Given the description of an element on the screen output the (x, y) to click on. 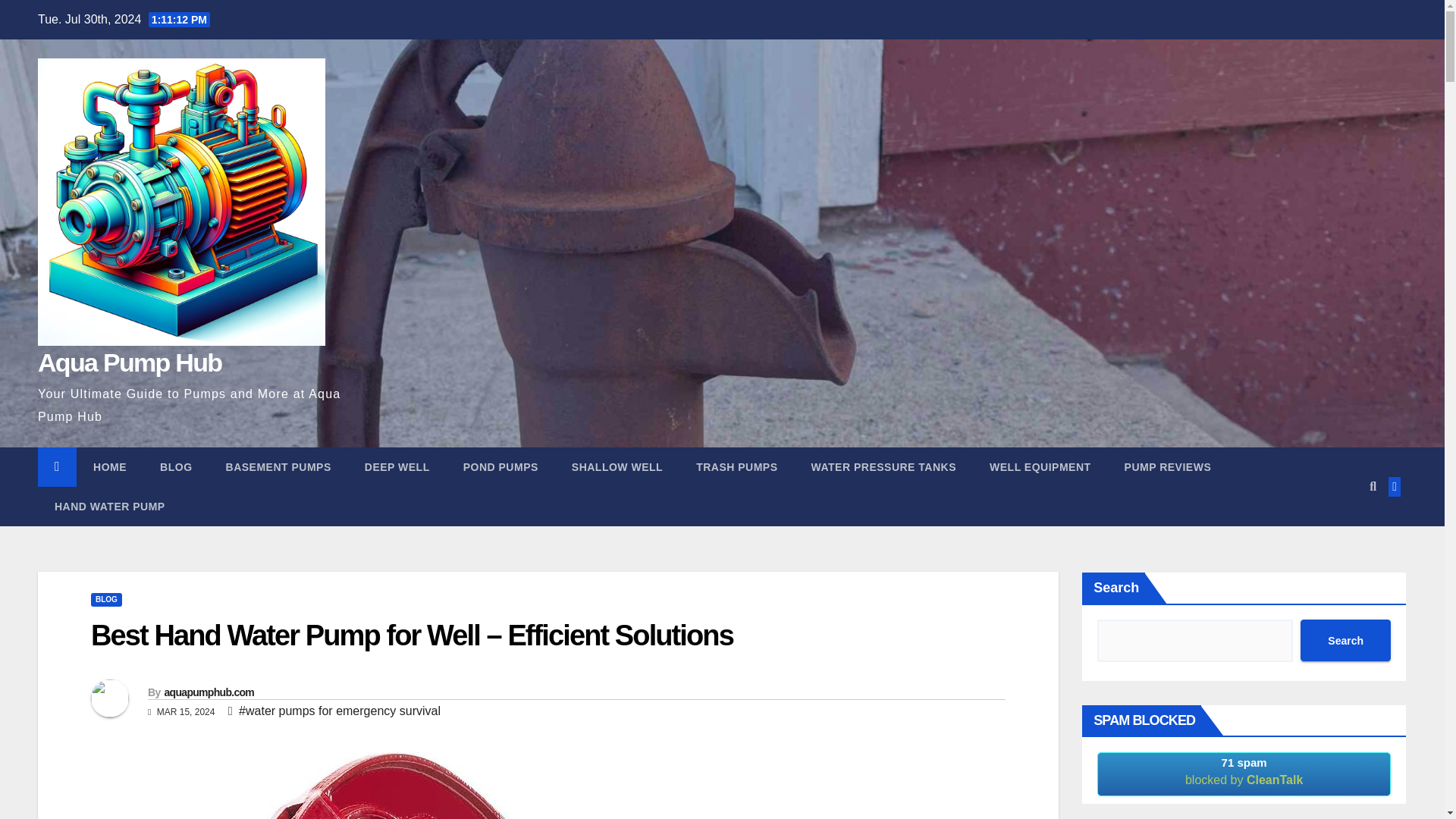
BLOG (106, 599)
POND PUMPS (500, 466)
PUMP REVIEWS (1168, 466)
Blog (175, 466)
HOME (109, 466)
SHALLOW WELL (616, 466)
aquapumphub.com (208, 691)
BASEMENT PUMPS (278, 466)
Deep Well (396, 466)
Aqua Pump Hub (129, 362)
Pump Reviews (1168, 466)
Shallow Well (616, 466)
water pressure tanks (884, 466)
BLOG (175, 466)
Hand Water Pump (109, 506)
